Given the description of an element on the screen output the (x, y) to click on. 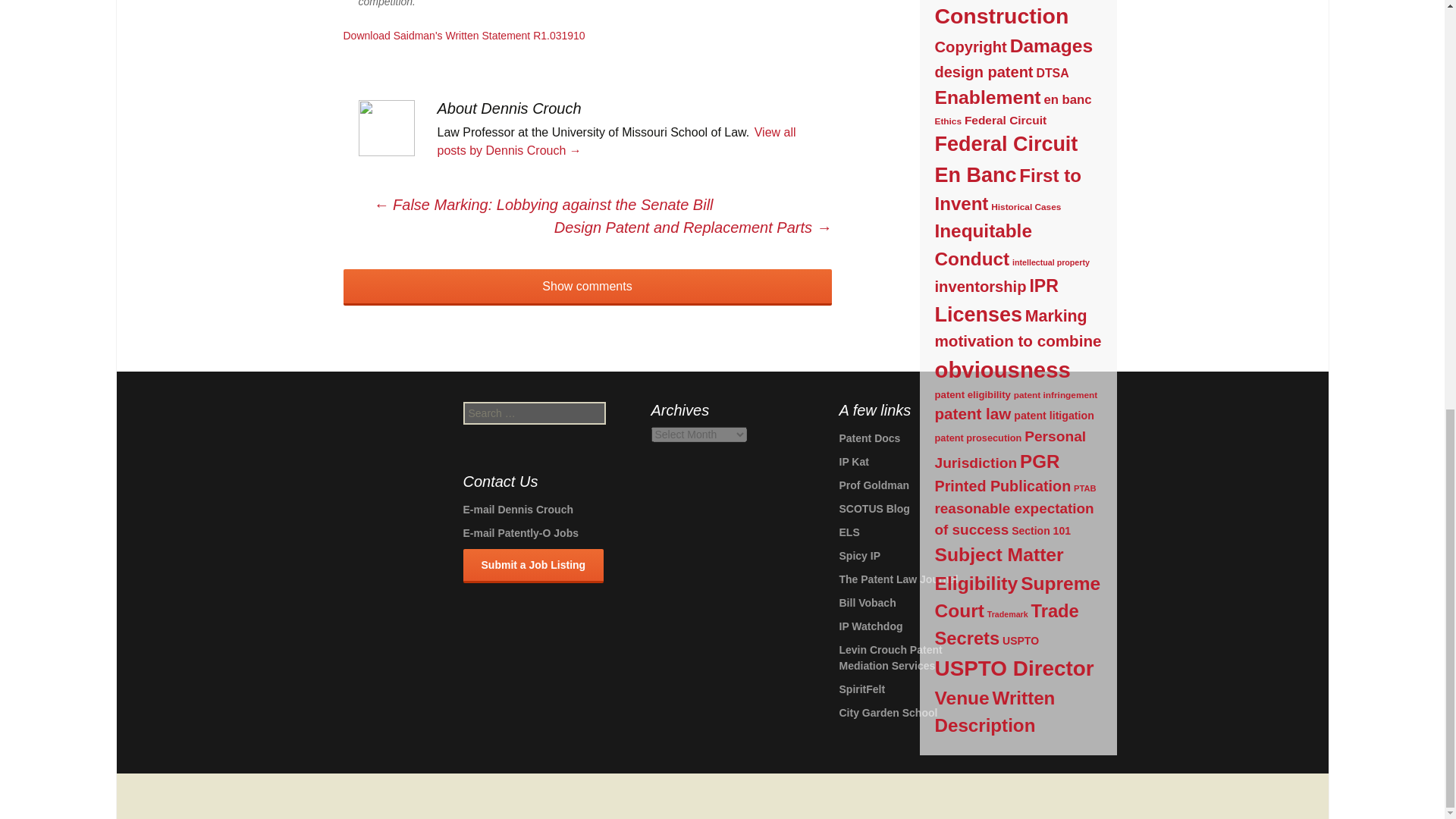
Download Saidman's Written Statement R1.031910 (463, 35)
Show comments (586, 287)
